Given the description of an element on the screen output the (x, y) to click on. 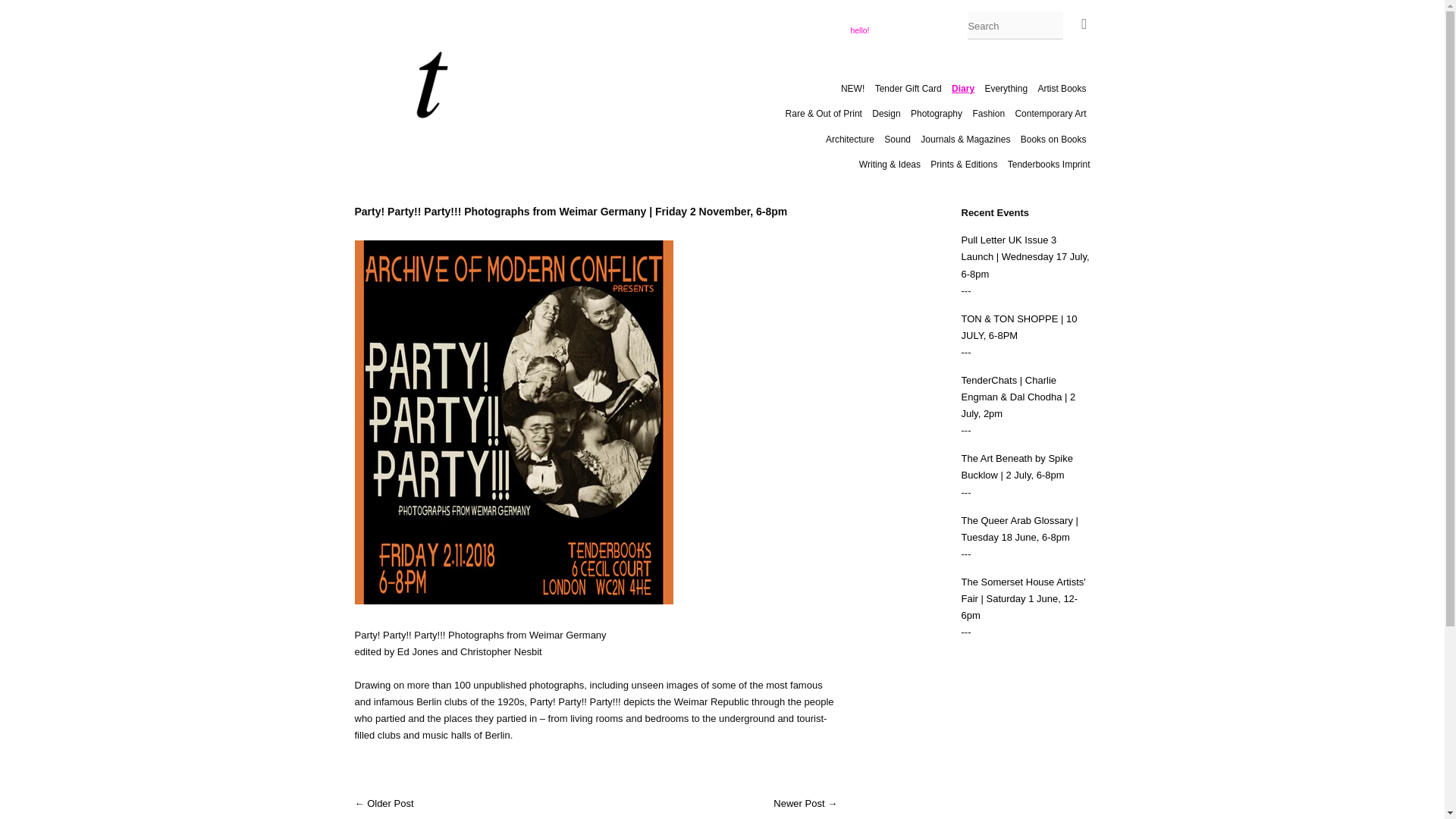
Fashion (988, 113)
Artist Books (1061, 87)
Tender Gift Card (907, 87)
Architecture (849, 138)
Everything (1004, 87)
Tenderbooks Imprint (1047, 164)
Contemporary Art (1049, 113)
Sound (897, 138)
Older Post (389, 803)
Photography (936, 113)
NEW! (854, 87)
Diary (962, 87)
Books on Books (1053, 138)
Design (885, 113)
